Given the description of an element on the screen output the (x, y) to click on. 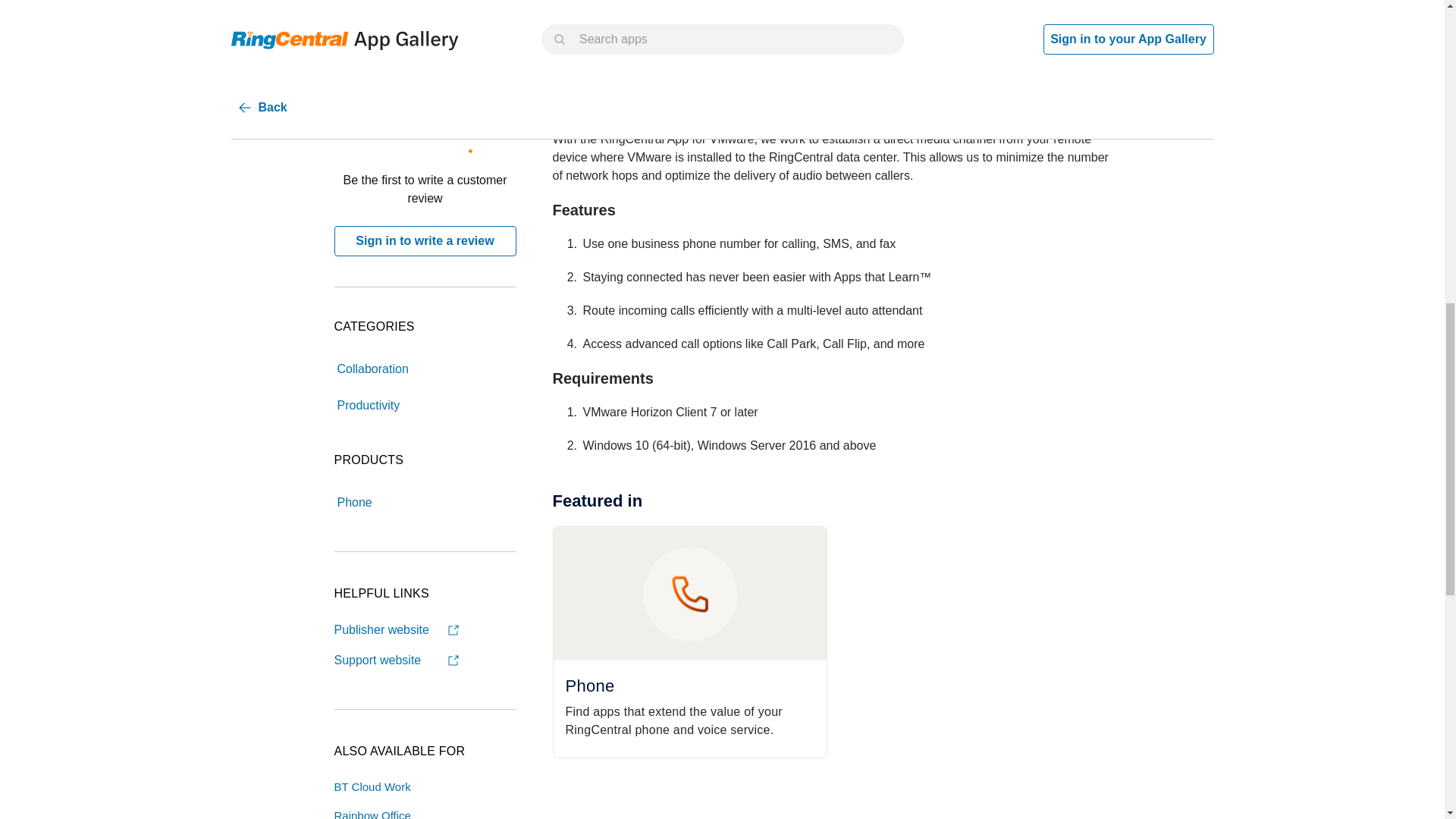
Phone (689, 685)
Publisher website (395, 629)
Phone (353, 501)
Rainbow Office (371, 814)
Sign in to write a review (424, 241)
Phone (353, 502)
Collaboration (371, 368)
Collaboration (371, 367)
Support website (395, 660)
BT Cloud Work (371, 786)
Productivity (368, 405)
Productivity (368, 404)
